Given the description of an element on the screen output the (x, y) to click on. 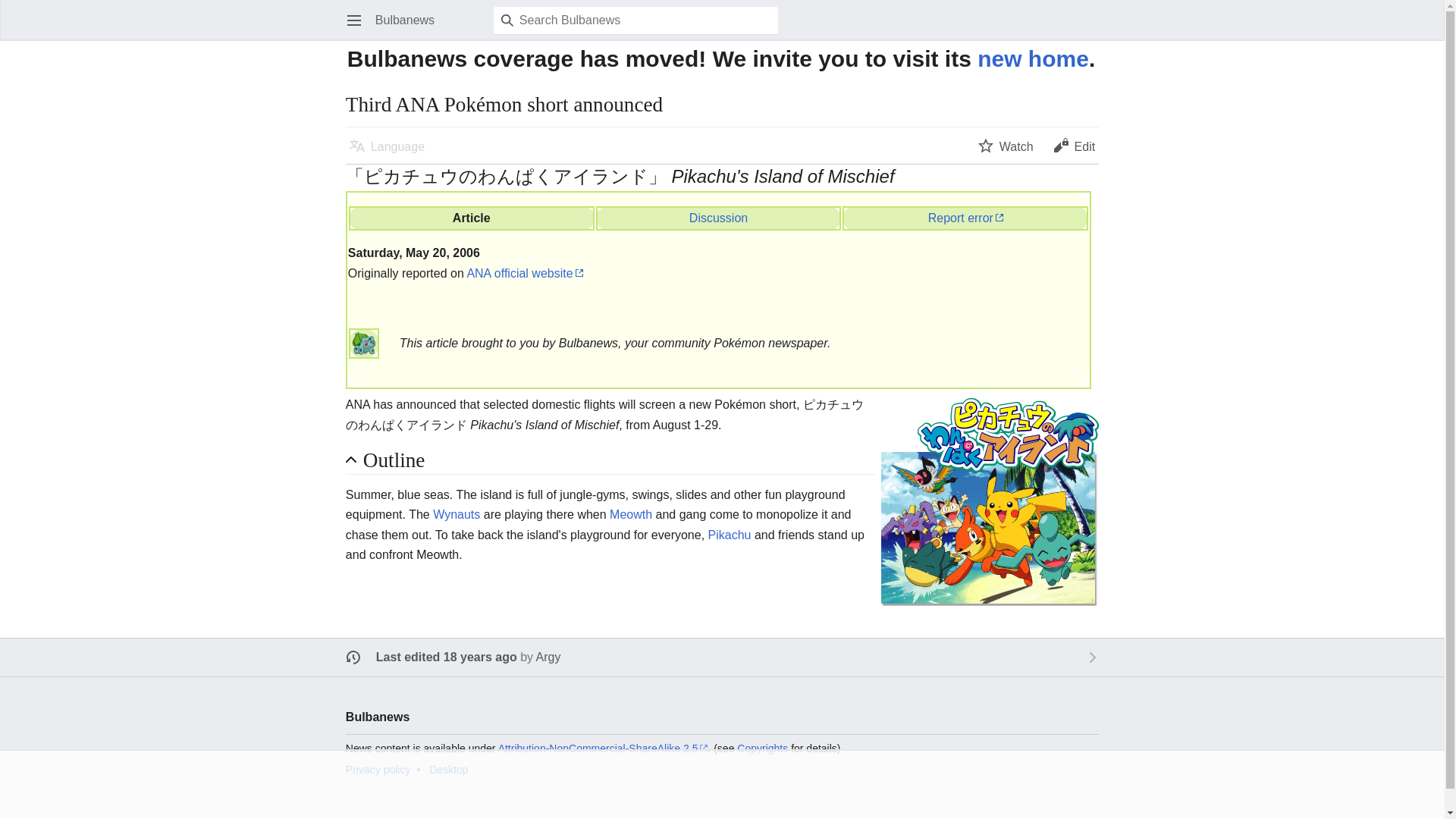
Report error (965, 217)
Edit the lead section of this page (1074, 144)
Desktop (448, 769)
Watch (1005, 144)
Watch (1005, 144)
Meowth (631, 513)
Edit (1074, 144)
Language (386, 144)
bmgf:12793 (718, 217)
Wynauts (456, 513)
bp:Ash's Pikachu (729, 534)
ANA official website (523, 273)
Article (471, 217)
new home (1032, 58)
Discussion (718, 217)
